Given the description of an element on the screen output the (x, y) to click on. 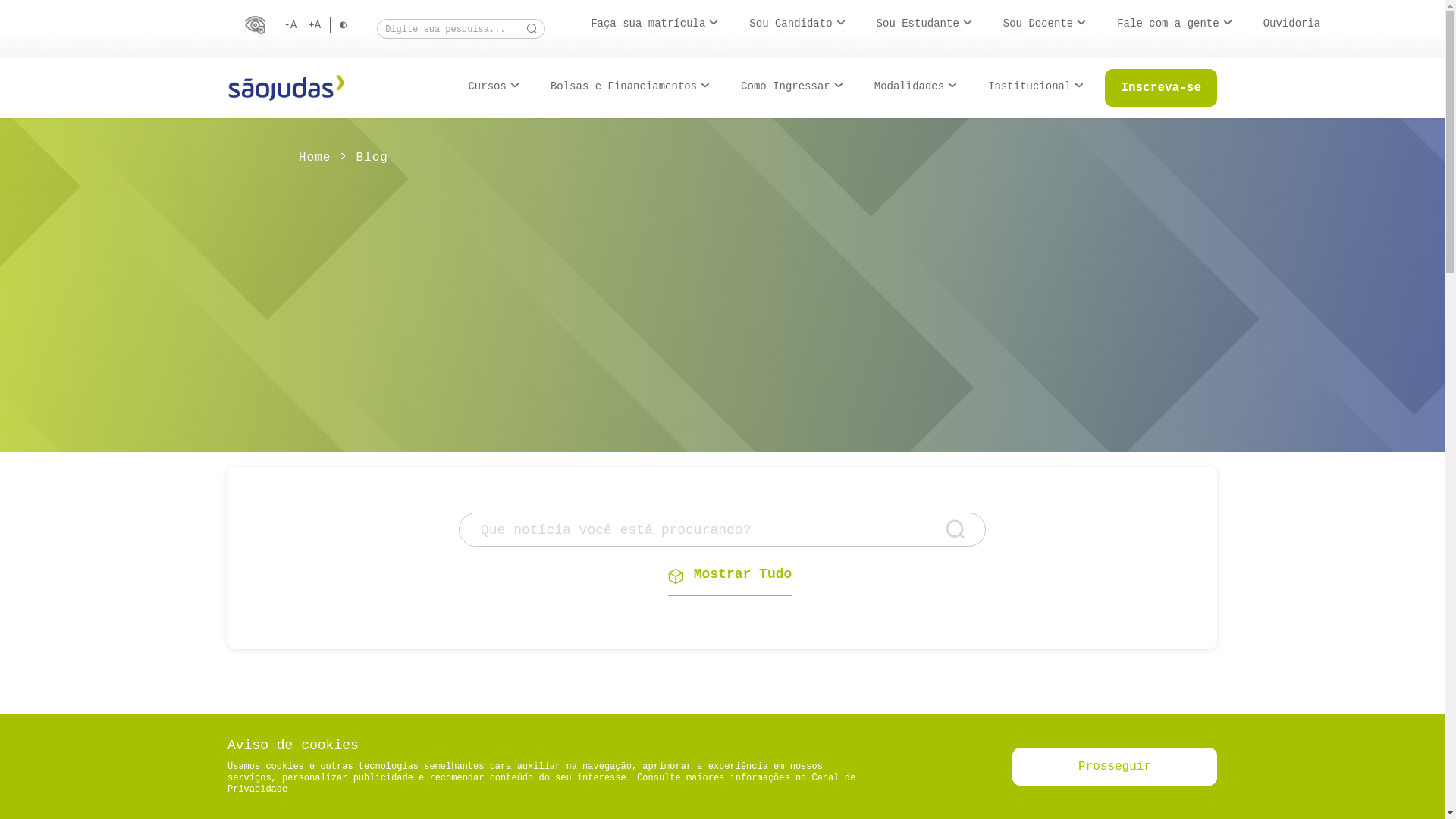
Sou Candidato Element type: text (790, 24)
Fale com a gente Element type: text (1167, 24)
Sou Docente Element type: text (1038, 24)
Canal de Privacidade Element type: text (541, 783)
Inscreva-se Element type: text (1160, 87)
Ouvidoria Element type: text (1292, 24)
Sou Estudante Element type: text (917, 24)
Prosseguir Element type: text (1114, 766)
Institucional Element type: text (1029, 87)
Bolsas e Financiamentos Element type: text (623, 87)
Acessibilidade Element type: hover (254, 24)
Modalidades Element type: text (909, 87)
Home Element type: text (314, 156)
Cursos Element type: text (486, 87)
Como Ingressar Element type: text (785, 87)
